Given the description of an element on the screen output the (x, y) to click on. 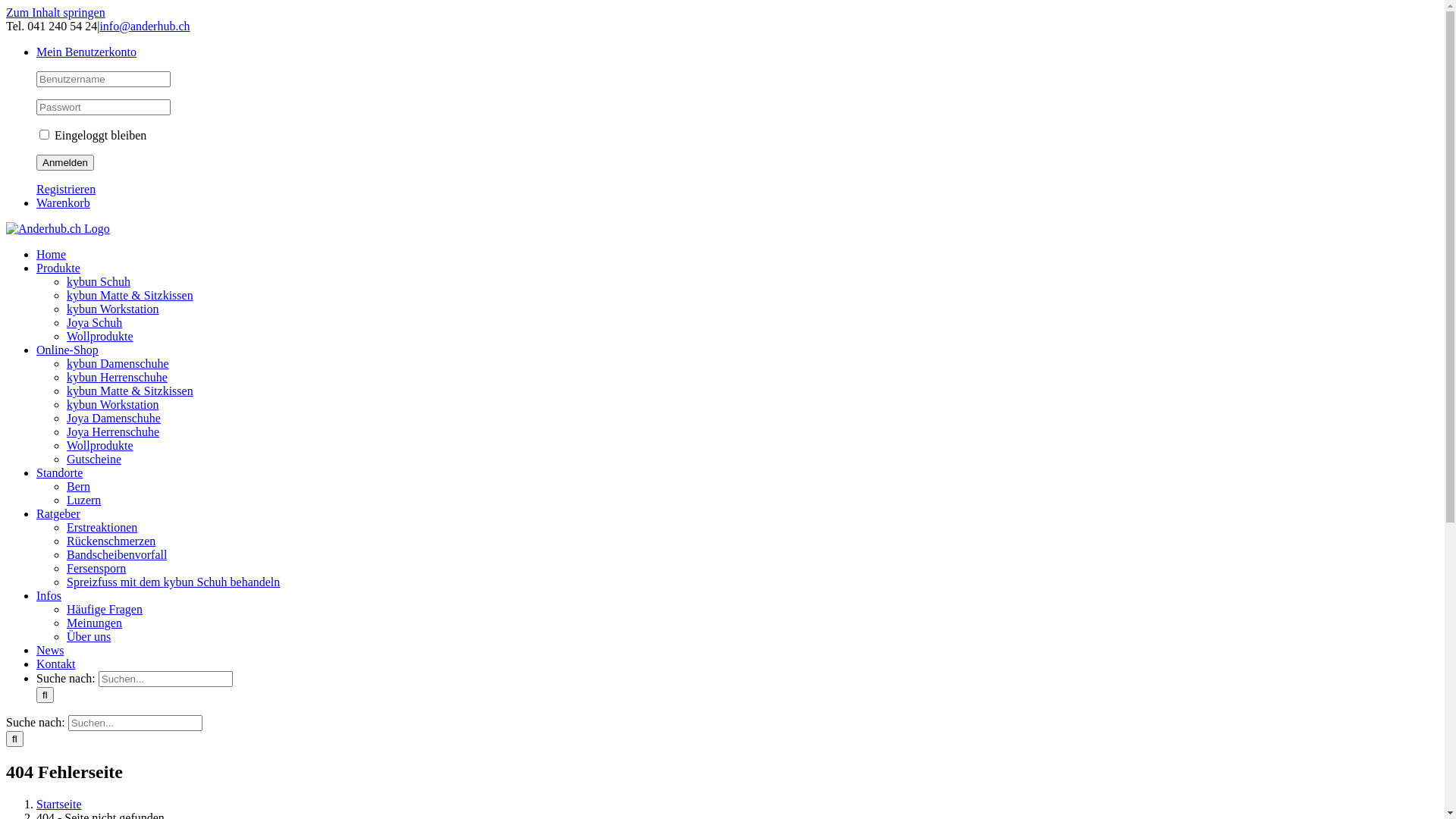
Kontakt Element type: text (55, 663)
Standorte Element type: text (59, 472)
Erstreaktionen Element type: text (101, 526)
Zum Inhalt springen Element type: text (55, 12)
kybun Workstation Element type: text (112, 308)
Registrieren Element type: text (65, 188)
kybun Schuh Element type: text (98, 281)
info@anderhub.ch Element type: text (144, 25)
Ratgeber Element type: text (58, 513)
Home Element type: text (50, 253)
Fersensporn Element type: text (95, 567)
Bern Element type: text (78, 486)
Spreizfuss mit dem kybun Schuh behandeln Element type: text (172, 581)
kybun Herrenschuhe Element type: text (116, 376)
Infos Element type: text (48, 595)
Online-Shop Element type: text (67, 349)
Bandscheibenvorfall Element type: text (116, 554)
kybun Damenschuhe Element type: text (117, 363)
Gutscheine Element type: text (93, 458)
Warenkorb Element type: text (63, 202)
Anmelden Element type: text (65, 162)
Meinungen Element type: text (94, 622)
Joya Herrenschuhe Element type: text (112, 431)
kybun Matte & Sitzkissen Element type: text (129, 294)
Wollprodukte Element type: text (99, 445)
Mein Benutzerkonto Element type: text (86, 51)
Joya Schuh Element type: text (94, 322)
Joya Damenschuhe Element type: text (113, 417)
kybun Matte & Sitzkissen Element type: text (129, 390)
Wollprodukte Element type: text (99, 335)
News Element type: text (49, 649)
Luzern Element type: text (83, 499)
kybun Workstation Element type: text (112, 404)
Startseite Element type: text (58, 803)
Produkte Element type: text (58, 267)
